Given the description of an element on the screen output the (x, y) to click on. 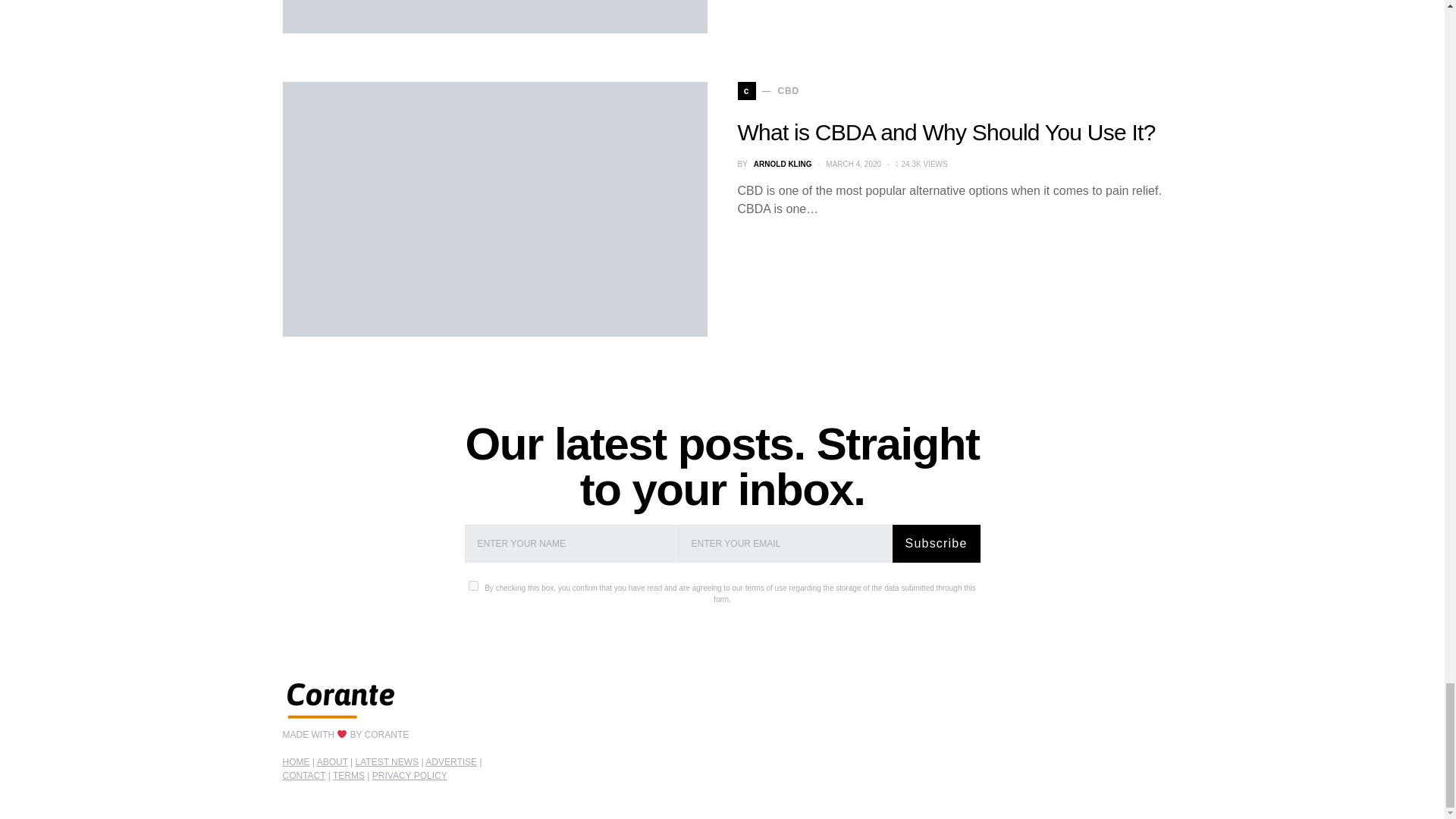
View all posts by Arnold Kling (783, 163)
on (473, 585)
